Given the description of an element on the screen output the (x, y) to click on. 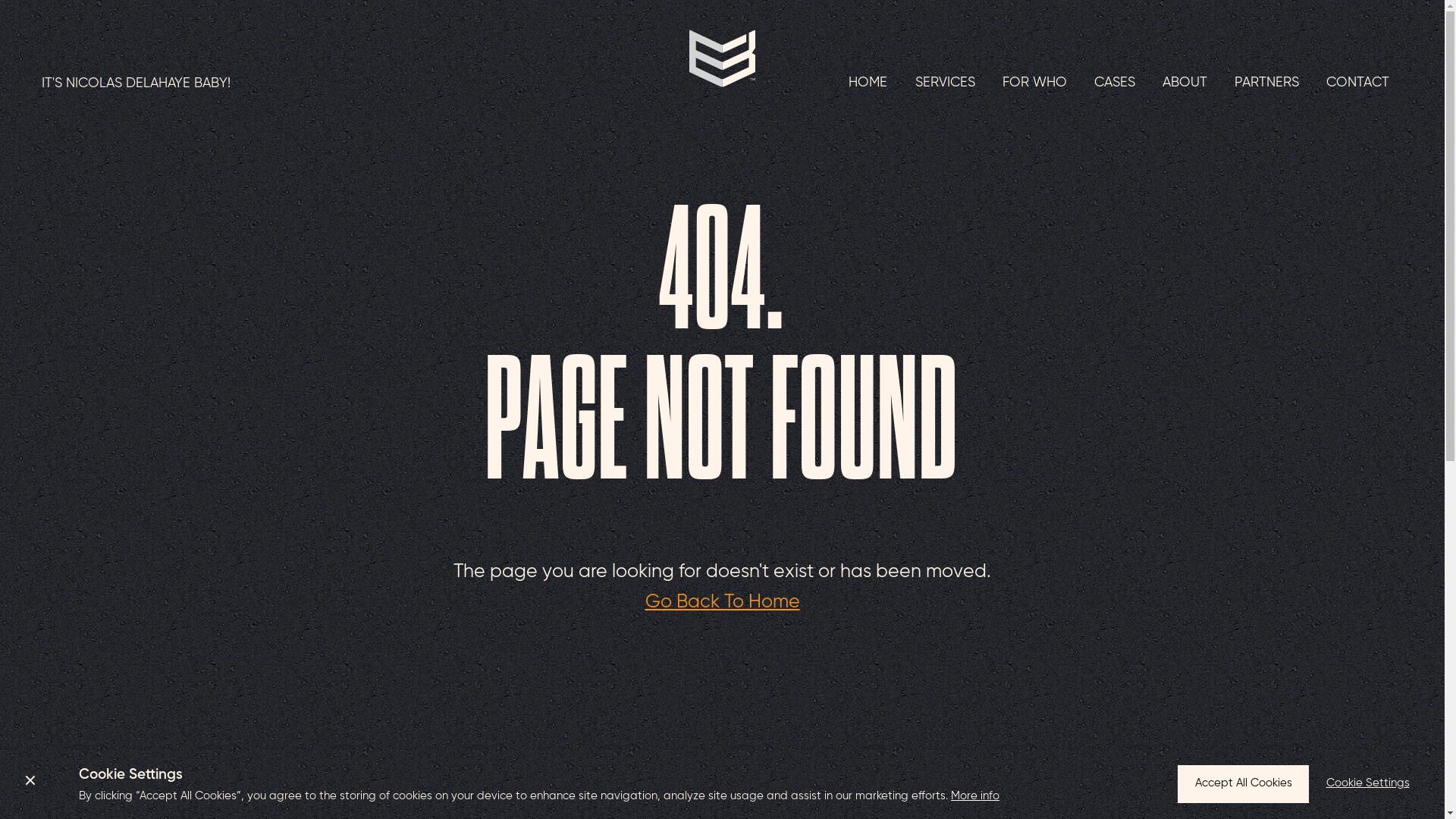
CONTACT Element type: text (1357, 83)
SERVICES Element type: text (945, 83)
FOR WHO Element type: text (1034, 83)
More info Element type: text (974, 795)
IT'S NICOLAS DELAHAYE BABY! Element type: text (438, 83)
PARTNERS Element type: text (1266, 83)
ABOUT Element type: text (1184, 83)
Go Back To Home Element type: text (721, 602)
Accept All Cookies Element type: text (1242, 784)
Close Cookie Popup Element type: text (30, 780)
HOME Element type: text (867, 83)
Cookie Settings Element type: text (1367, 784)
CASES Element type: text (1114, 83)
